Given the description of an element on the screen output the (x, y) to click on. 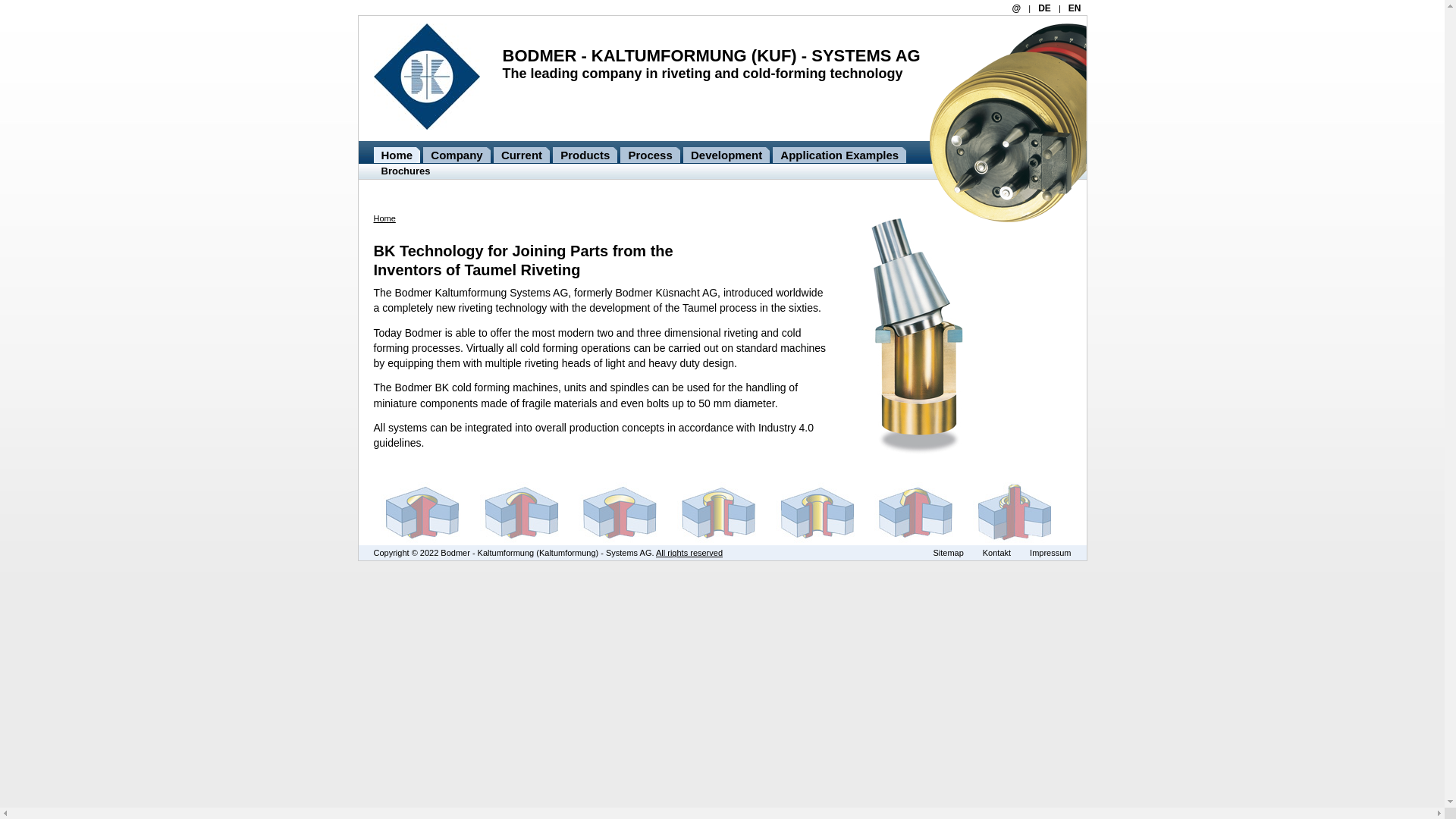
DE Element type: text (1044, 8)
Development Element type: text (726, 155)
Sitemap Element type: text (947, 552)
EN Element type: text (1074, 8)
Application Examples Element type: text (839, 155)
Current Element type: text (521, 155)
Home Element type: text (396, 155)
Process Element type: text (649, 155)
All rights reserved Element type: text (698, 552)
Kontakt Element type: text (996, 552)
Impressum Element type: text (1049, 552)
Home Element type: text (384, 217)
Company Element type: text (456, 155)
Products Element type: text (584, 155)
Brochures Element type: text (405, 170)
@ Element type: text (1015, 8)
